Given the description of an element on the screen output the (x, y) to click on. 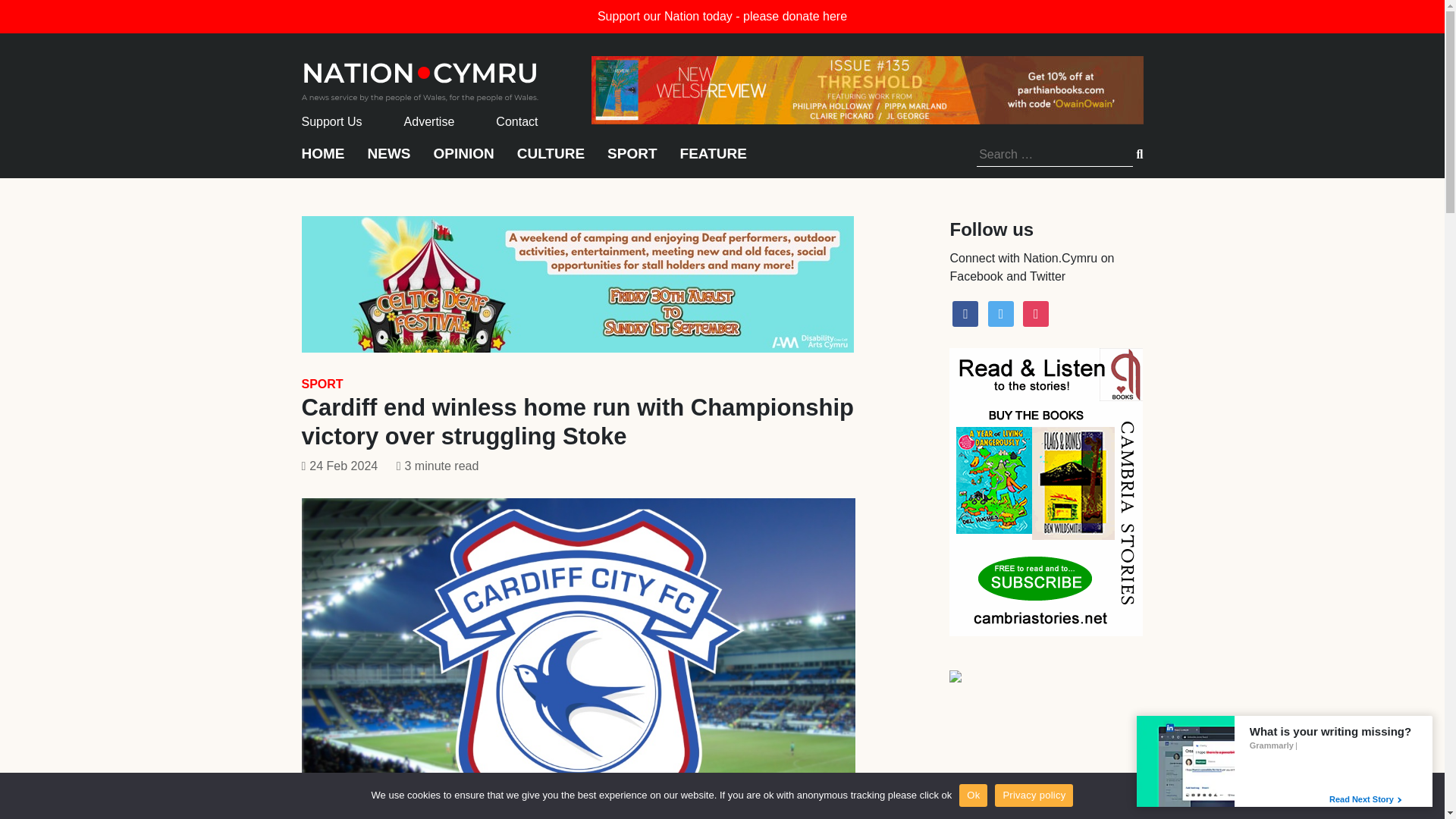
Contact (516, 121)
SPORT (631, 160)
FEATURE (712, 160)
NEWS (388, 160)
CULTURE (550, 160)
SPORT (322, 383)
OPINION (464, 160)
Support Us (331, 121)
home (419, 77)
HOME (323, 160)
Advertise (429, 121)
